Given the description of an element on the screen output the (x, y) to click on. 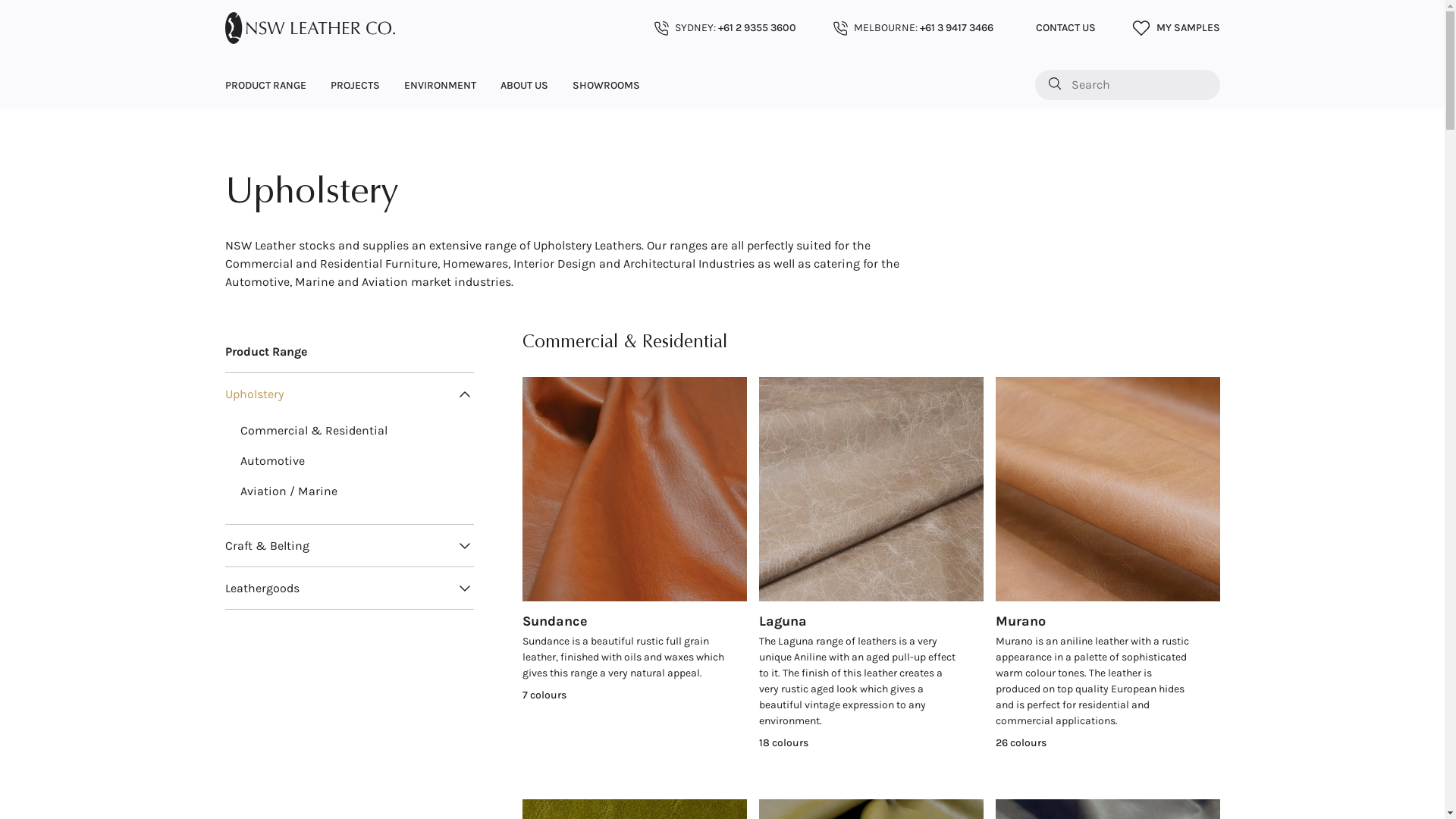
ENVIRONMENT Element type: text (439, 84)
MY SAMPLES Element type: text (1175, 27)
MELBOURNE: +61 3 9417 3466 Element type: text (912, 27)
SHOWROOMS Element type: text (605, 84)
PROJECTS Element type: text (354, 84)
CONTACT US Element type: text (1062, 27)
Upholstery Element type: text (253, 394)
Commercial & Residential Element type: text (313, 430)
Leathergoods Element type: text (261, 588)
Craft & Belting Element type: text (266, 545)
SYDNEY: +61 2 9355 3600 Element type: text (724, 27)
Aviation / Marine Element type: text (288, 491)
ABOUT US Element type: text (524, 84)
Automotive Element type: text (272, 460)
